Given the description of an element on the screen output the (x, y) to click on. 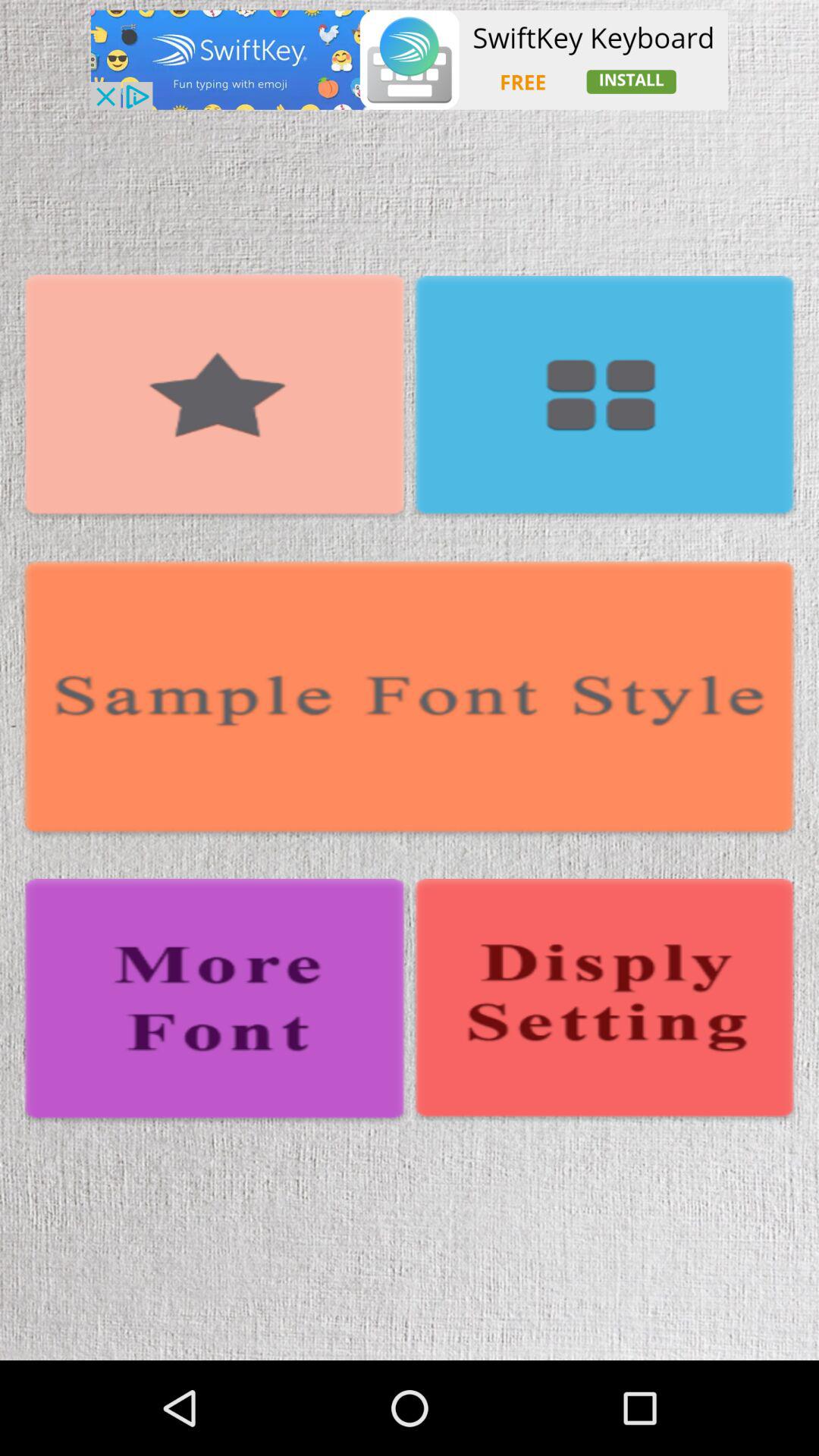
enter device settings (604, 1000)
